Given the description of an element on the screen output the (x, y) to click on. 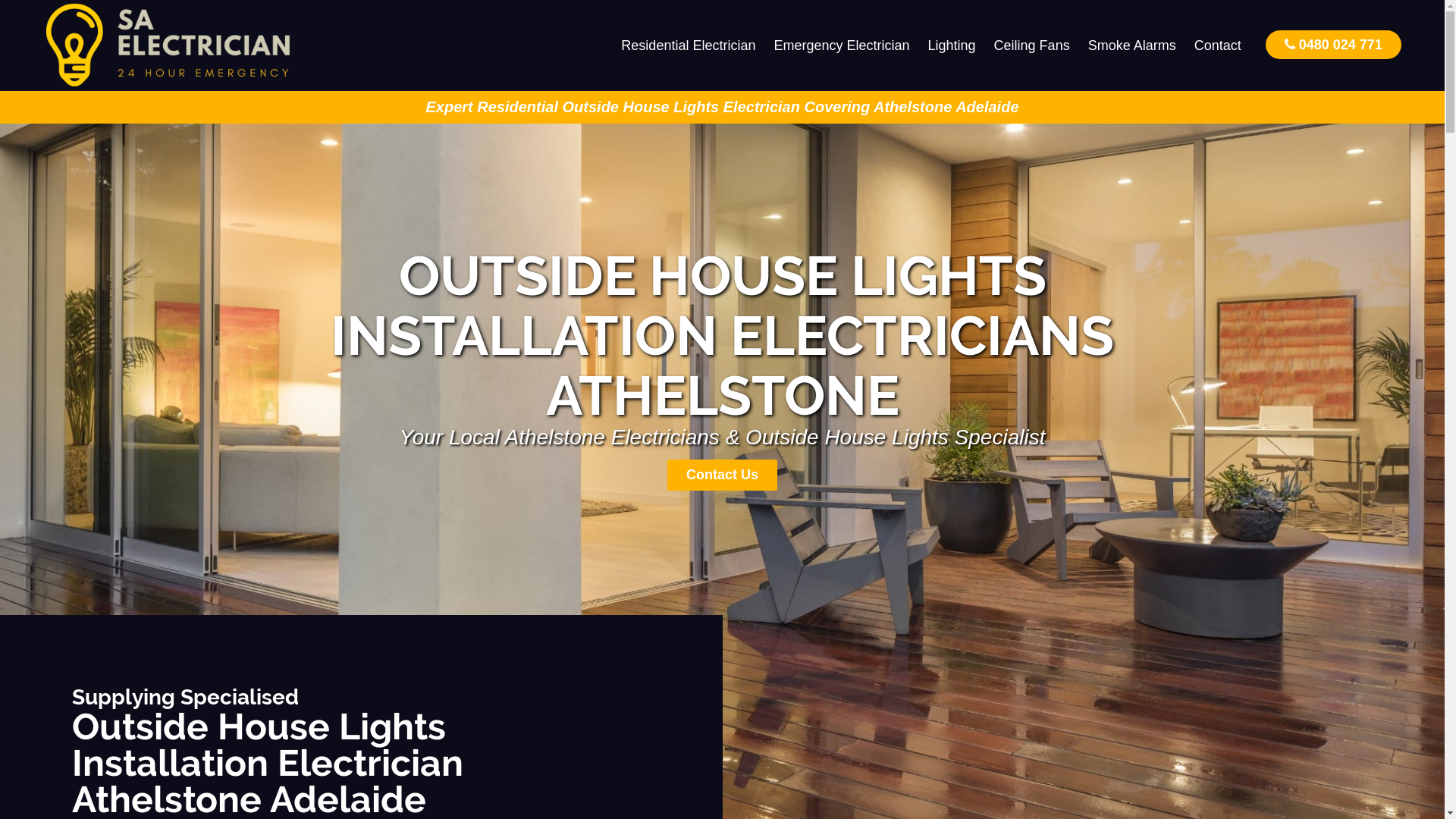
Contact Element type: text (1217, 45)
Residential Electrician Element type: text (687, 45)
Smoke Alarms Element type: text (1132, 45)
Emergency Electrician Element type: text (841, 45)
Contact Us Element type: text (722, 474)
Lighting Element type: text (952, 45)
Ceiling Fans Element type: text (1032, 45)
0480 024 771 Element type: text (1333, 44)
